Given the description of an element on the screen output the (x, y) to click on. 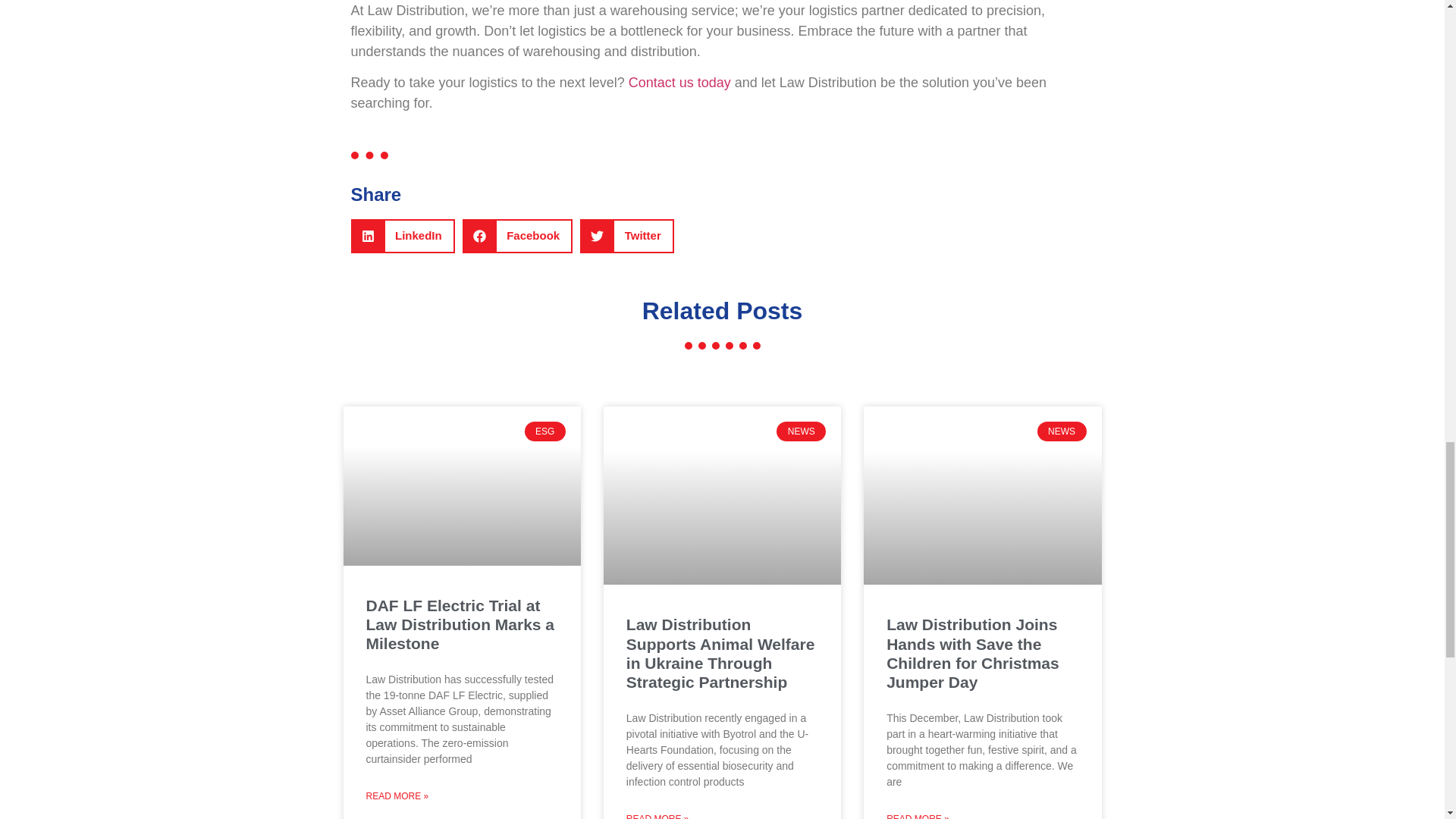
DAF LF Electric Trial at Law Distribution Marks a Milestone (459, 623)
Contact us today (679, 82)
